Given the description of an element on the screen output the (x, y) to click on. 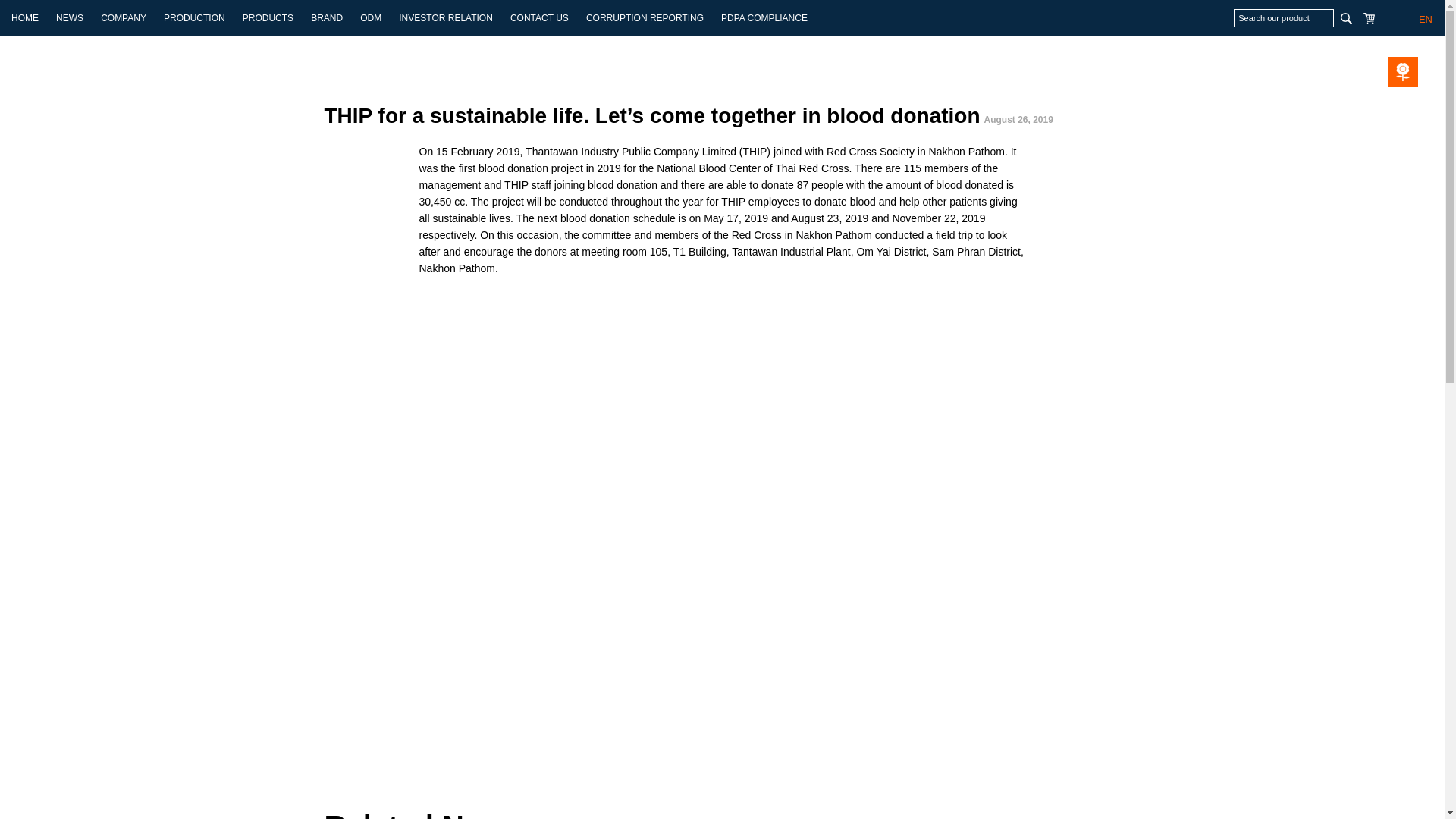
INVESTOR RELATION (445, 18)
ODM (370, 18)
NEWS (69, 18)
HOME (25, 18)
PRODUCTS (268, 18)
BRAND (326, 18)
PRODUCTION (194, 18)
COMPANY (123, 18)
